Given the description of an element on the screen output the (x, y) to click on. 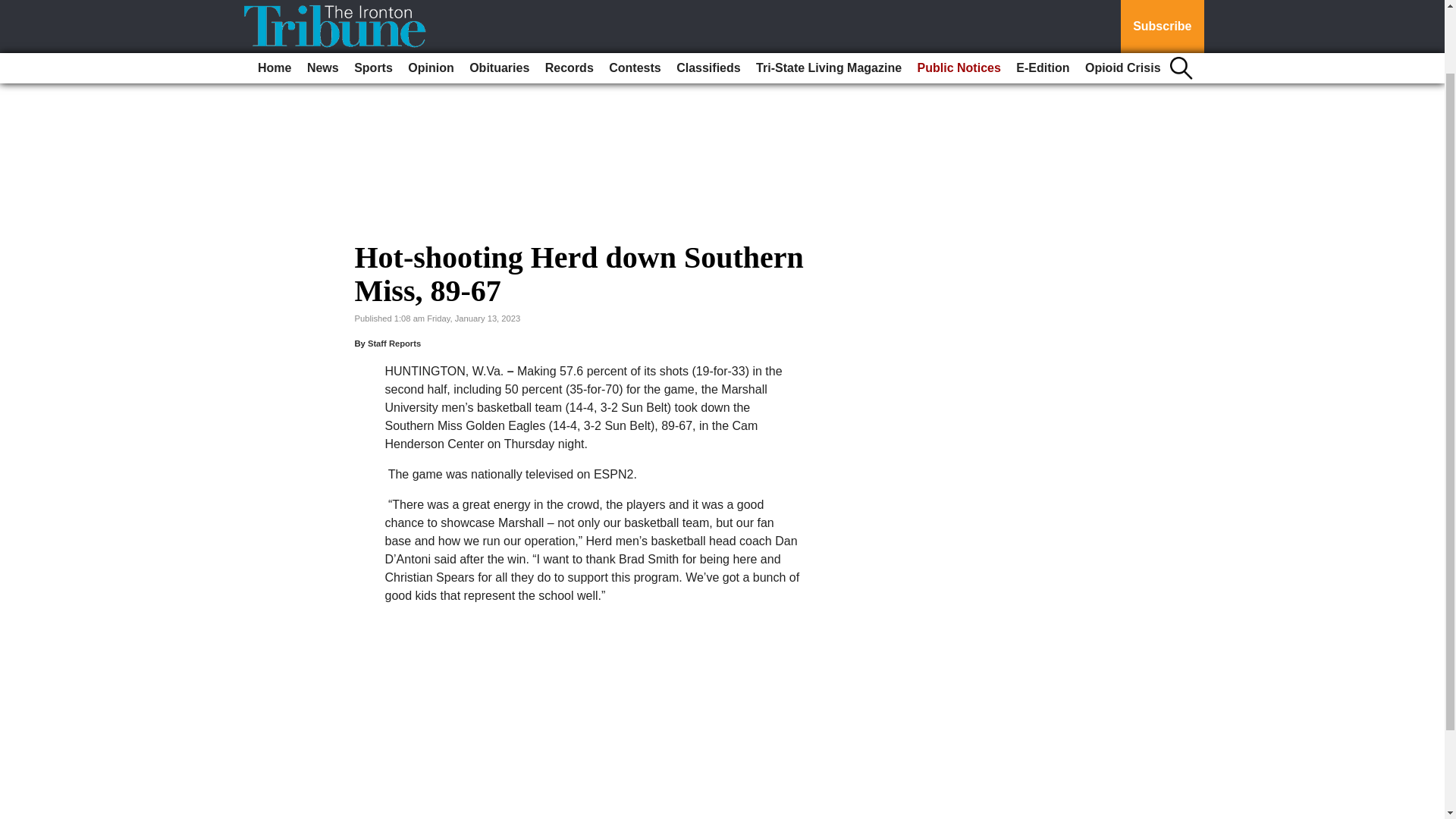
E-Edition (1042, 2)
Tri-State Living Magazine (828, 2)
Sports (372, 2)
Home (274, 2)
Opioid Crisis (1122, 2)
Public Notices (959, 2)
Classifieds (707, 2)
News (323, 2)
Contests (634, 2)
Staff Reports (394, 343)
